Given the description of an element on the screen output the (x, y) to click on. 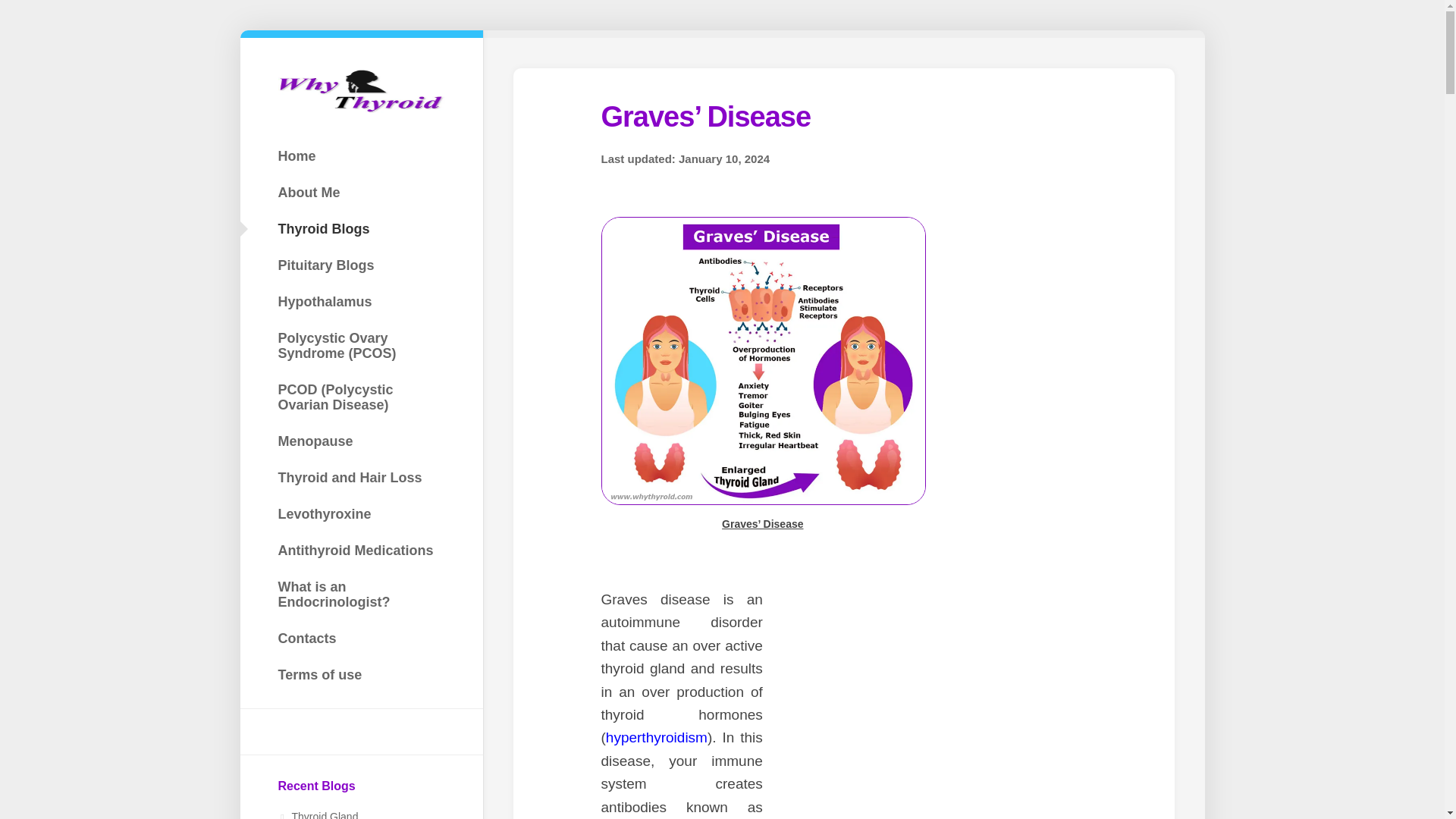
Thyroid and Hair Loss (361, 477)
Pituitary Blogs (361, 265)
Hypothalamus (361, 301)
Contacts (361, 638)
Thyroid Blogs (361, 228)
Antithyroid Medications (361, 550)
Terms of use (361, 675)
Levothyroxine (361, 513)
Home (361, 155)
About Me (361, 192)
What is an Endocrinologist? (361, 594)
Menopause (361, 440)
